Given the description of an element on the screen output the (x, y) to click on. 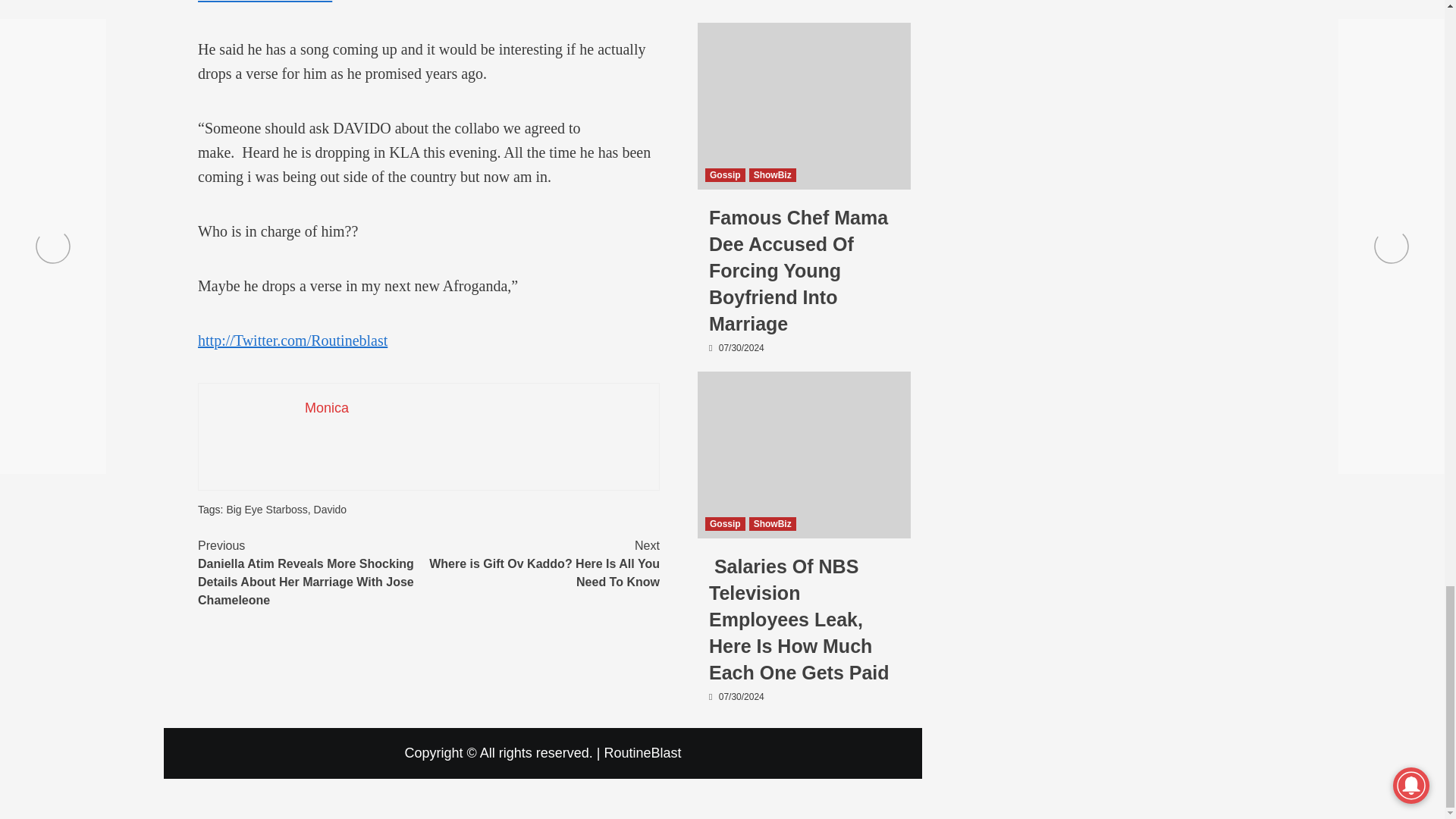
Big Eye Starboss (544, 564)
Monica (266, 509)
Davido (326, 407)
